Given the description of an element on the screen output the (x, y) to click on. 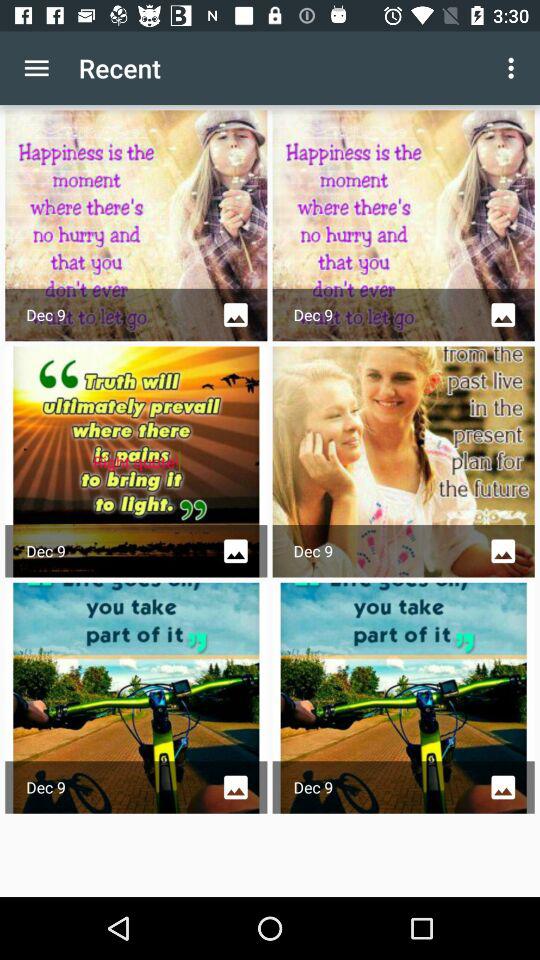
launch app to the left of the recent (36, 68)
